Given the description of an element on the screen output the (x, y) to click on. 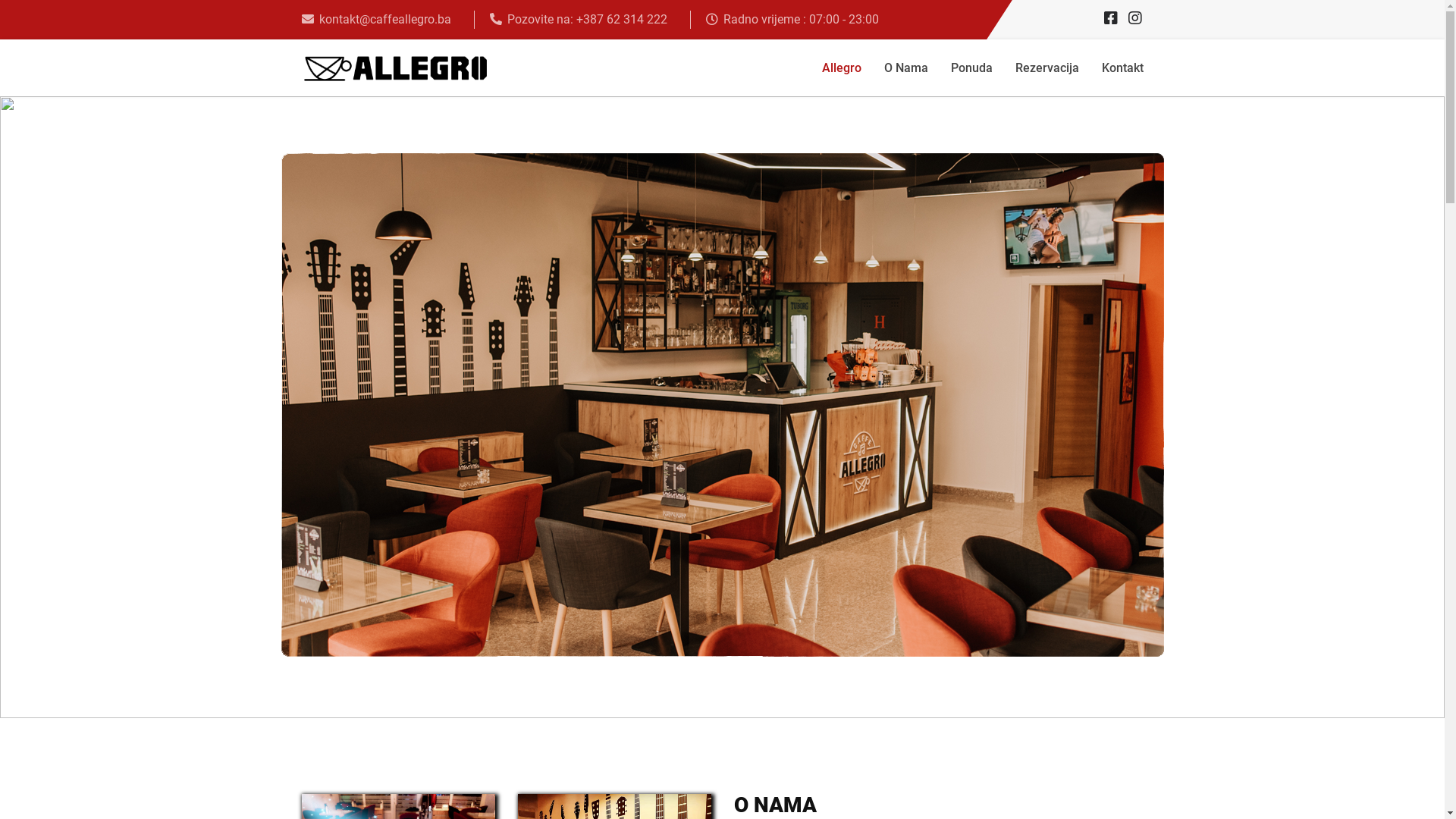
Rezervacija Element type: text (1047, 67)
Kontakt Element type: text (1122, 67)
kontakt@caffeallegro.ba Element type: text (384, 19)
Allegro Element type: text (840, 67)
Ponuda Element type: text (970, 67)
O Nama Element type: text (905, 67)
Pozovite na: +387 62 314 222 Element type: text (586, 19)
